Given the description of an element on the screen output the (x, y) to click on. 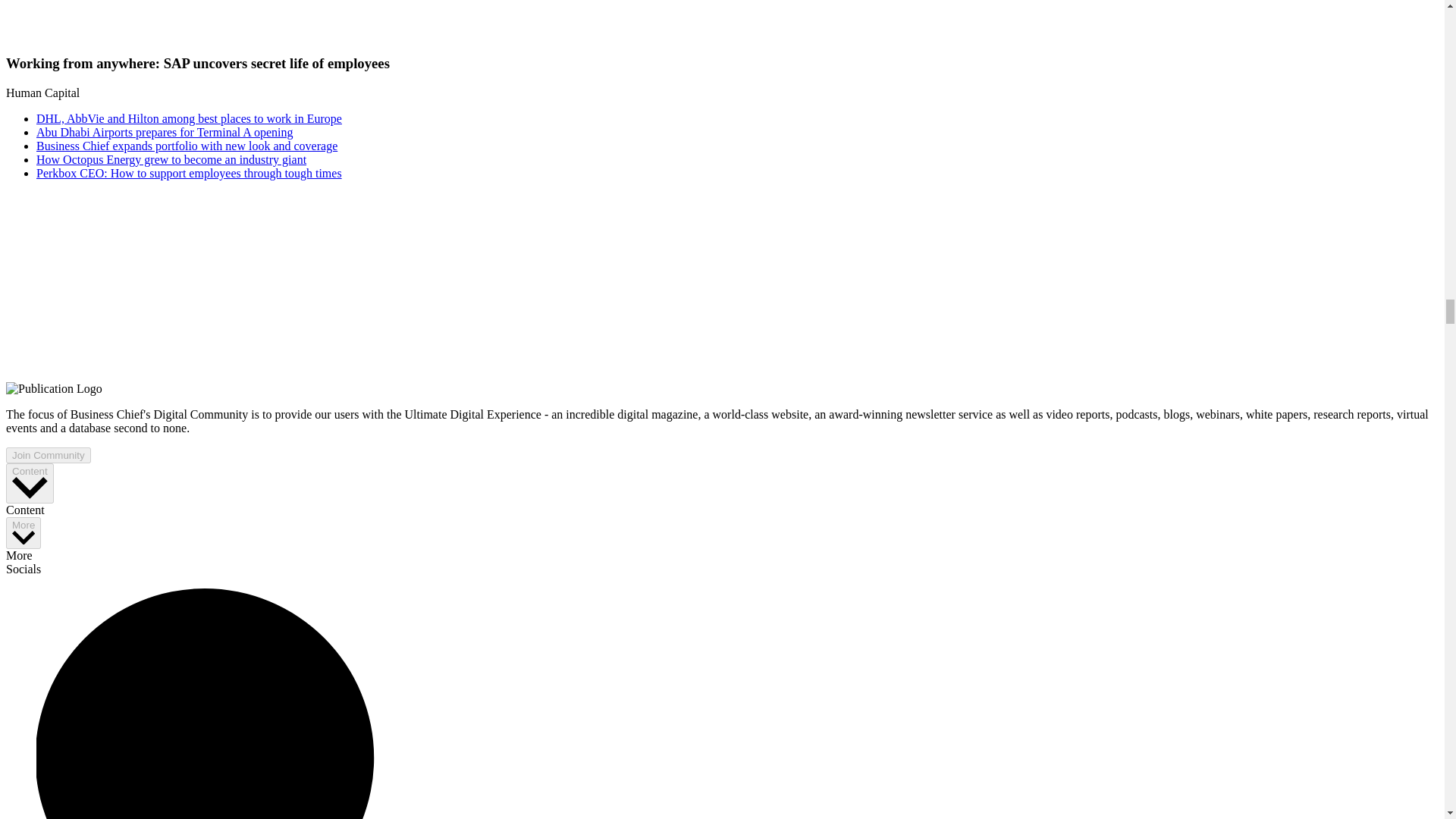
Join Community (47, 455)
Content (29, 483)
More (22, 532)
